Given the description of an element on the screen output the (x, y) to click on. 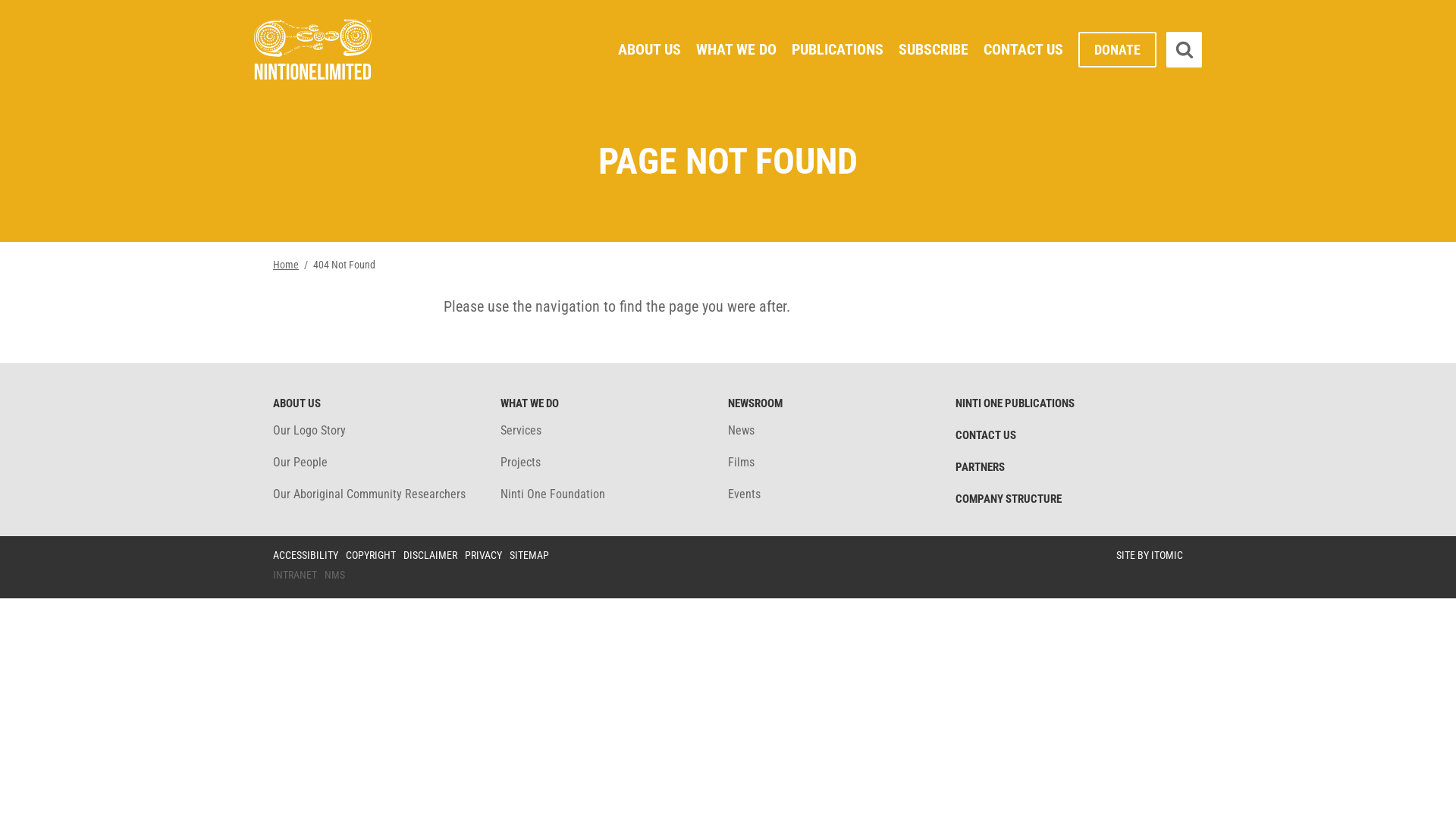
ABOUT US Element type: text (296, 403)
PRIVACY Element type: text (483, 555)
DONATE Element type: text (1117, 49)
ACCESSIBILITY Element type: text (305, 555)
SUBSCRIBE Element type: text (933, 49)
Ninti One Foundation Element type: text (552, 493)
Home Element type: text (285, 264)
DISCLAIMER Element type: text (430, 555)
Ninti One Element type: hover (312, 48)
COMPANY STRUCTURE Element type: text (1008, 498)
Projects Element type: text (520, 462)
PARTNERS Element type: text (979, 466)
NMS Element type: text (334, 574)
Search for: Element type: hover (1279, 49)
Our People Element type: text (300, 462)
INTRANET Element type: text (294, 574)
WHAT WE DO Element type: text (736, 49)
SITE BY ITOMIC Element type: text (1149, 555)
Films Element type: text (741, 462)
News Element type: text (741, 430)
COPYRIGHT Element type: text (370, 555)
ABOUT US Element type: text (649, 49)
SITEMAP Element type: text (529, 555)
NEWSROOM Element type: text (755, 403)
Services Element type: text (520, 430)
Events Element type: text (744, 493)
Search Element type: text (1183, 49)
Our Logo Story Element type: text (309, 430)
WHAT WE DO Element type: text (529, 403)
NINTI ONE PUBLICATIONS Element type: text (1014, 403)
Our Aboriginal Community Researchers Element type: text (369, 493)
PUBLICATIONS Element type: text (837, 49)
Ninti One Element type: hover (312, 51)
CONTACT US Element type: text (985, 435)
CONTACT US Element type: text (1022, 49)
